Given the description of an element on the screen output the (x, y) to click on. 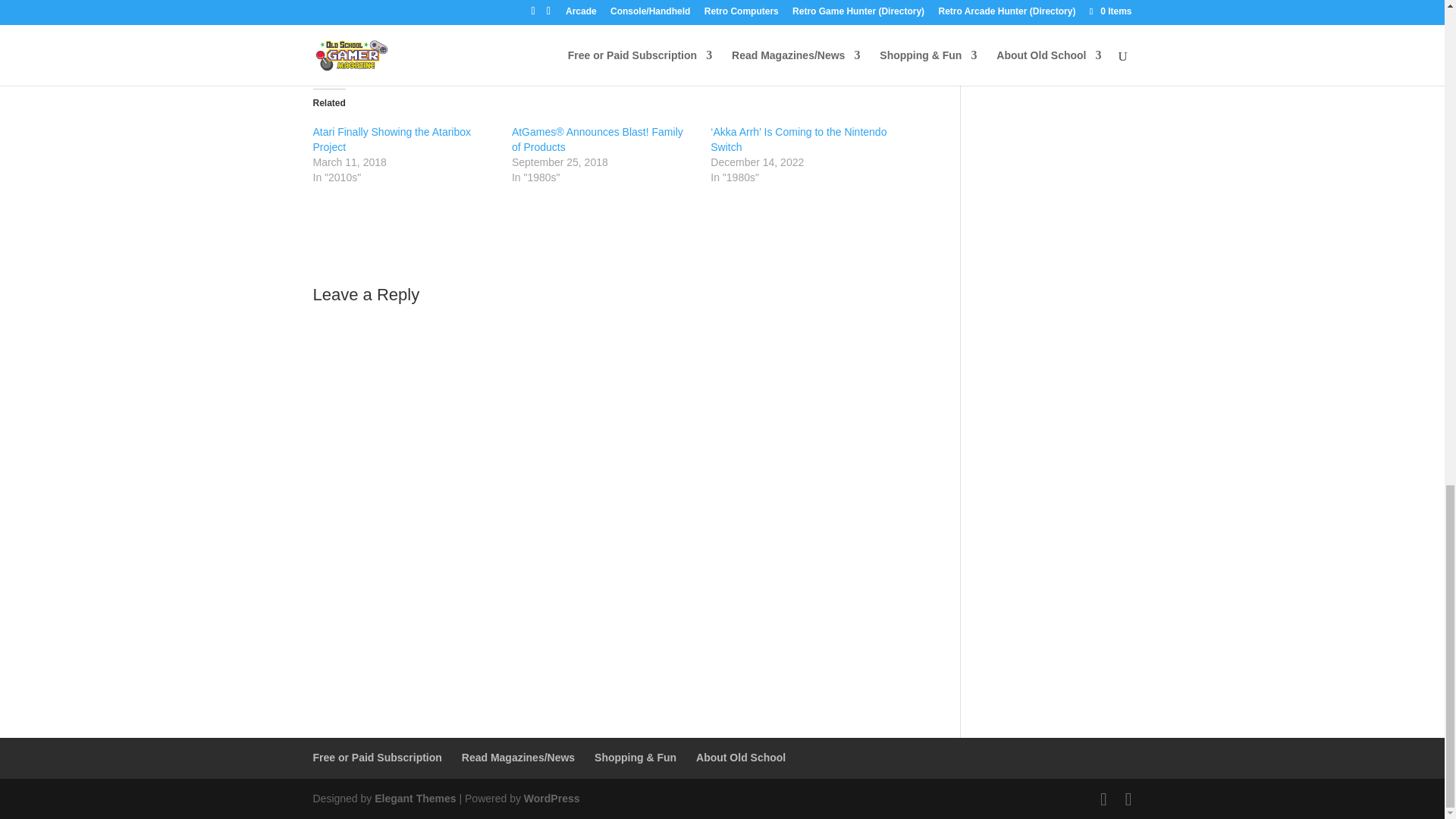
Atari Finally Showing the Ataribox Project (391, 139)
Premium WordPress Themes (414, 798)
Click to share on Facebook (354, 44)
Click to share on Twitter (324, 44)
